Given the description of an element on the screen output the (x, y) to click on. 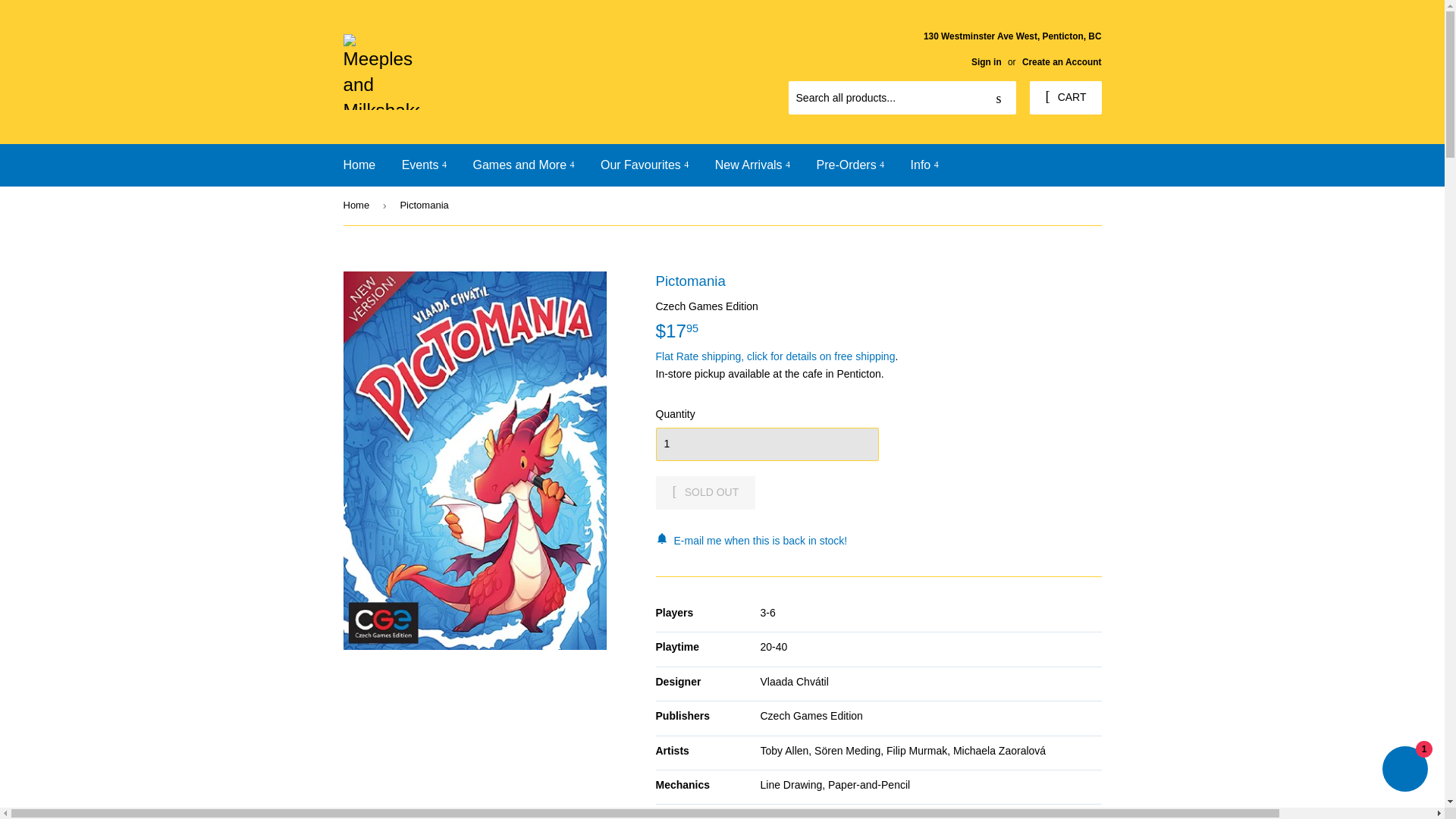
Search (998, 98)
Sign in (986, 61)
CART (1064, 97)
130 Westminster Ave West, Penticton, BC (1012, 48)
Add Notification (877, 540)
Shopify online store chat (1404, 770)
1 (766, 444)
Create an Account (1062, 61)
